Given the description of an element on the screen output the (x, y) to click on. 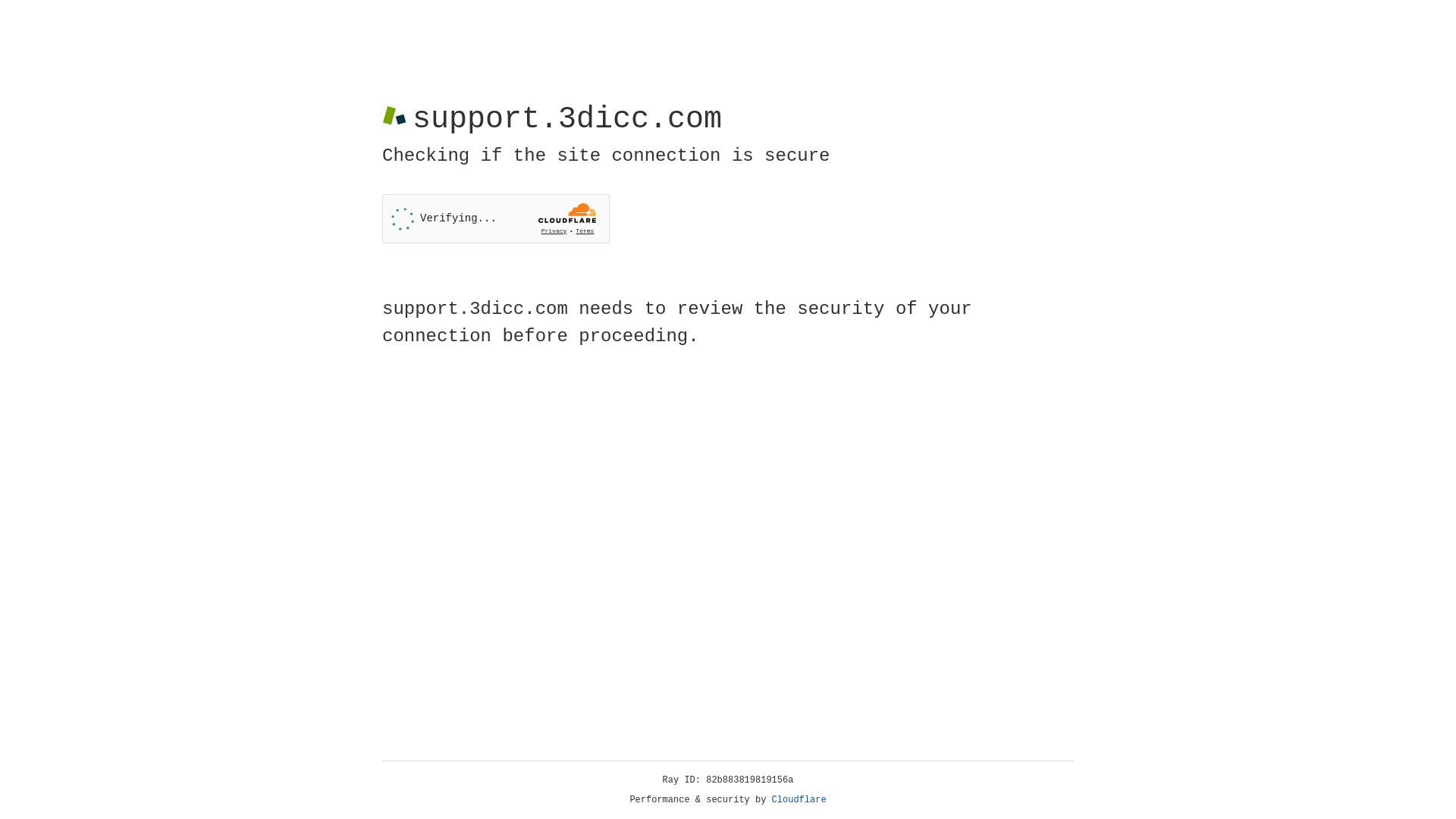
Cloudflare Element type: text (798, 799)
Widget containing a Cloudflare security challenge Element type: hover (495, 218)
